Given the description of an element on the screen output the (x, y) to click on. 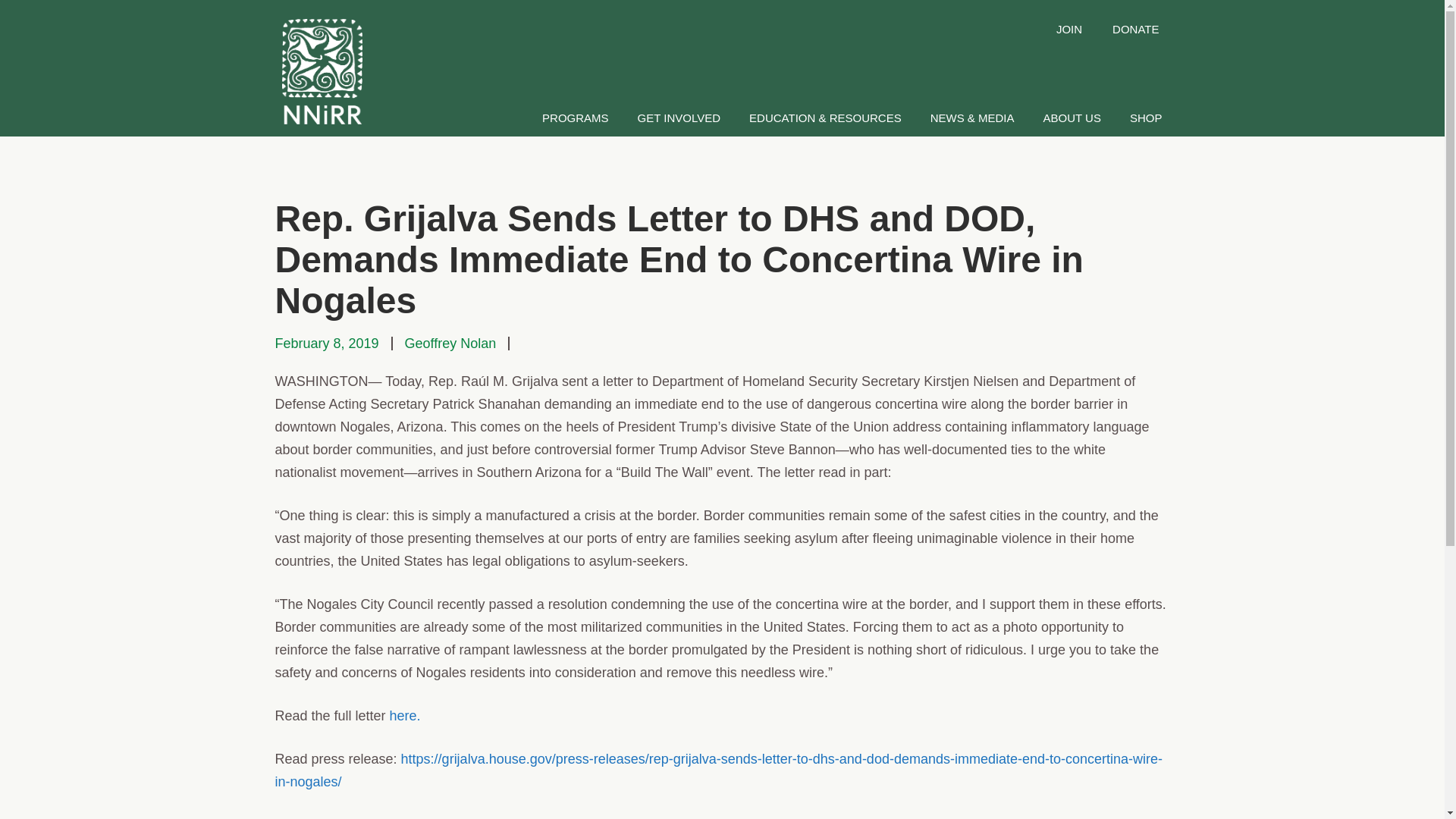
PROGRAMS (574, 117)
DONATE (1135, 28)
JOIN (1069, 28)
GET INVOLVED (678, 117)
